Given the description of an element on the screen output the (x, y) to click on. 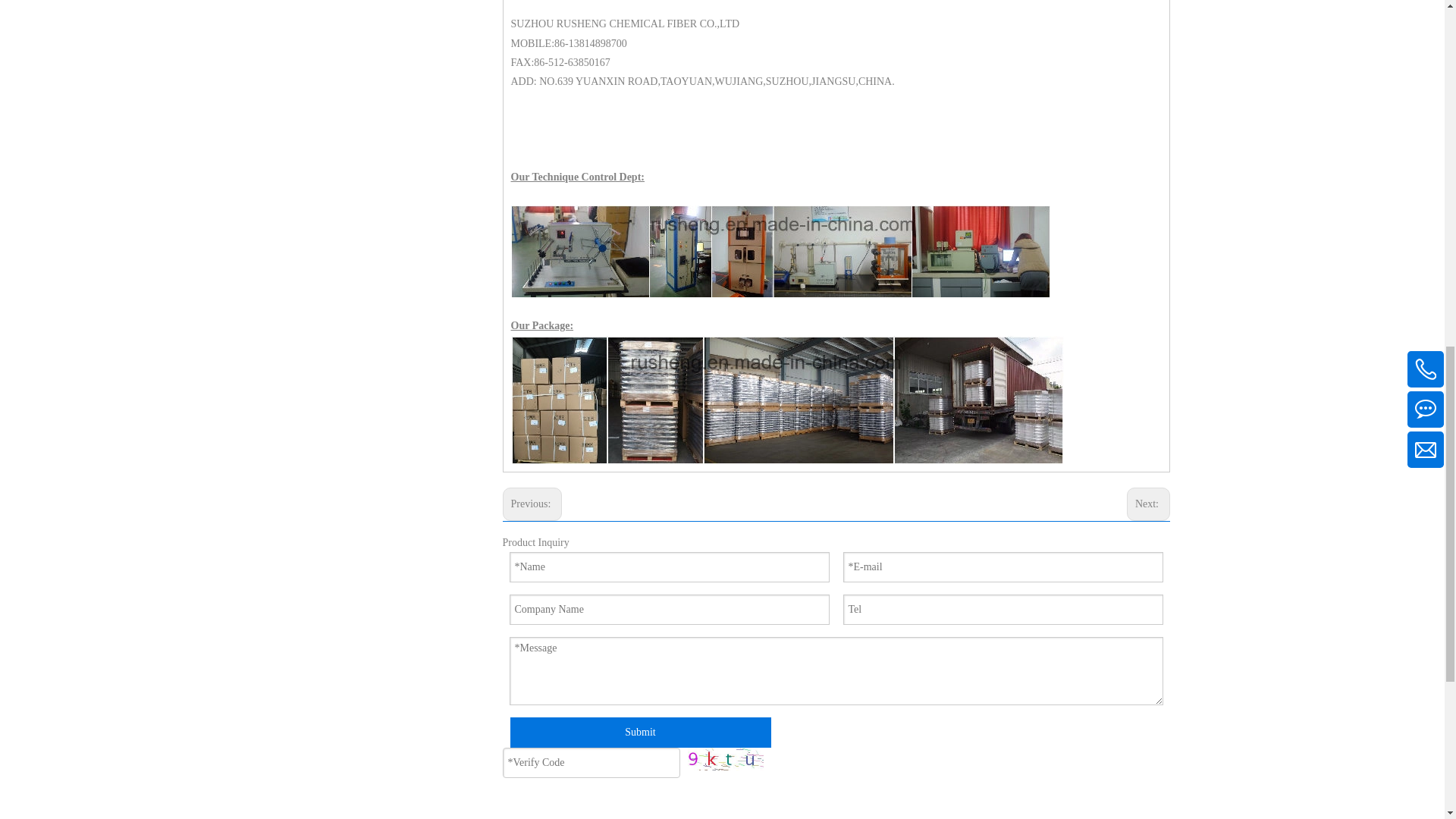
Submit (639, 732)
